Given the description of an element on the screen output the (x, y) to click on. 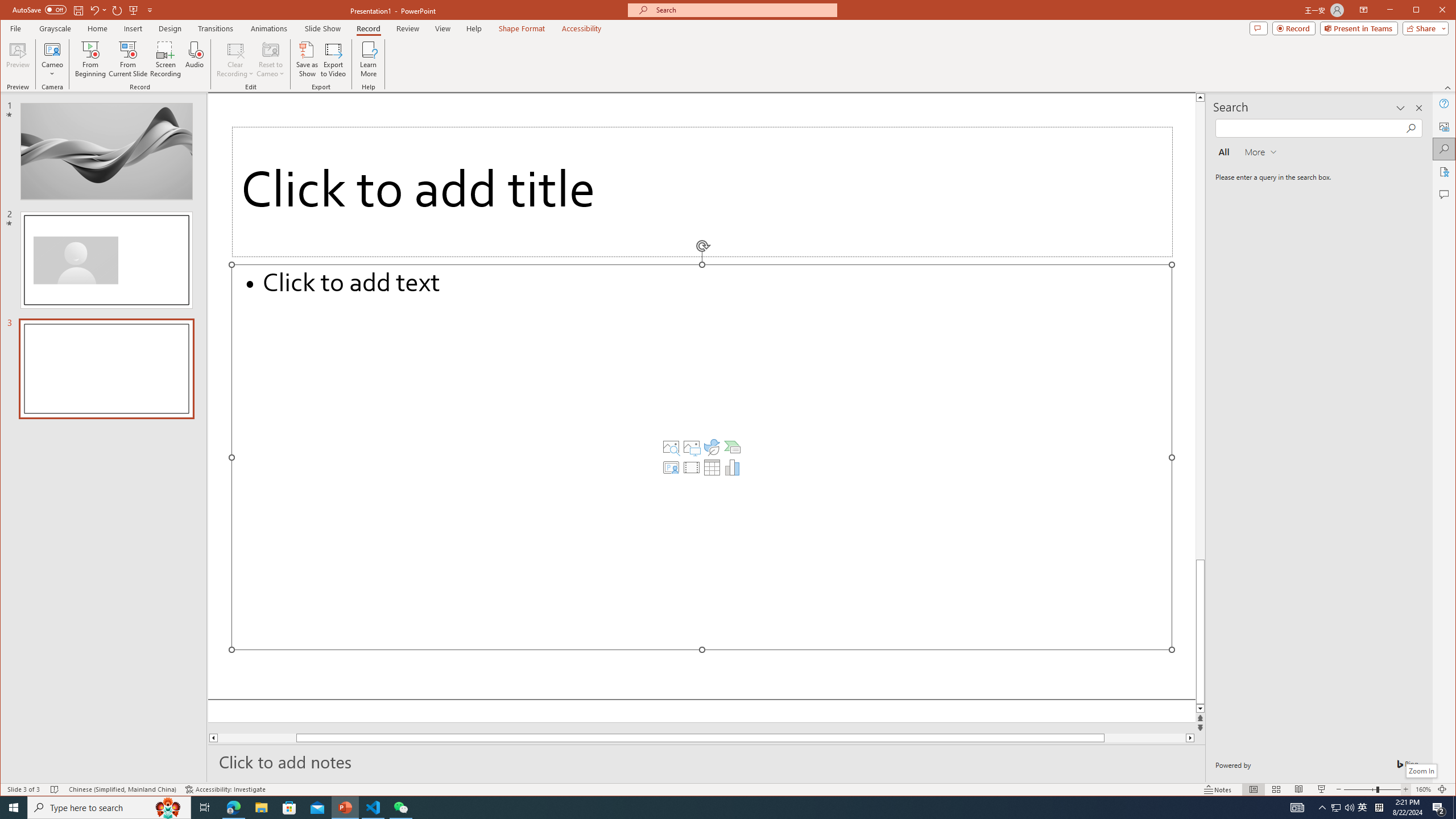
Search (1444, 148)
Present in Teams (1358, 28)
Help (1444, 102)
